Given the description of an element on the screen output the (x, y) to click on. 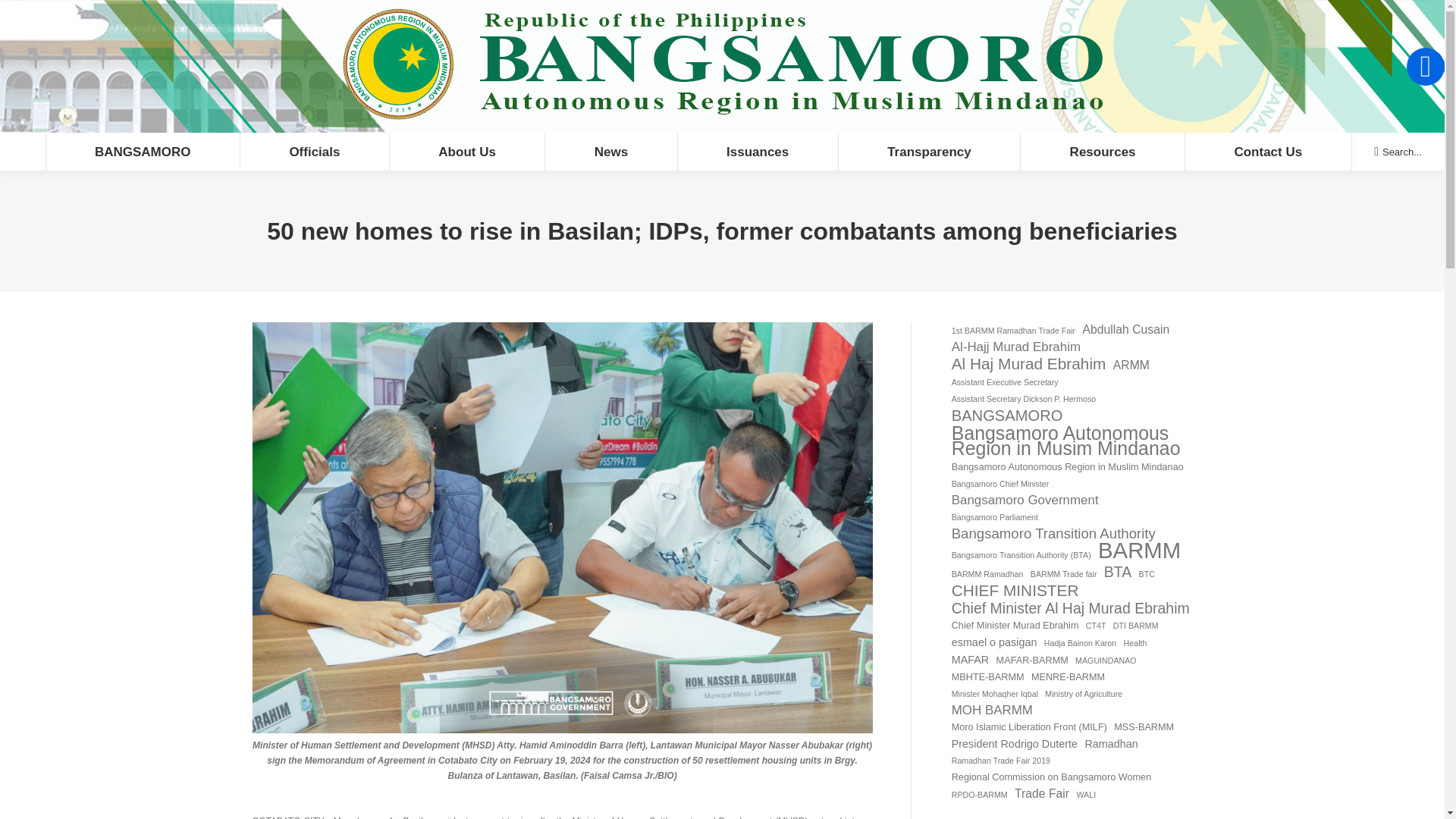
Transparency (929, 151)
About Us (466, 151)
Issuances (757, 151)
BANGSAMORO (142, 151)
News (610, 151)
Officials (314, 151)
